Given the description of an element on the screen output the (x, y) to click on. 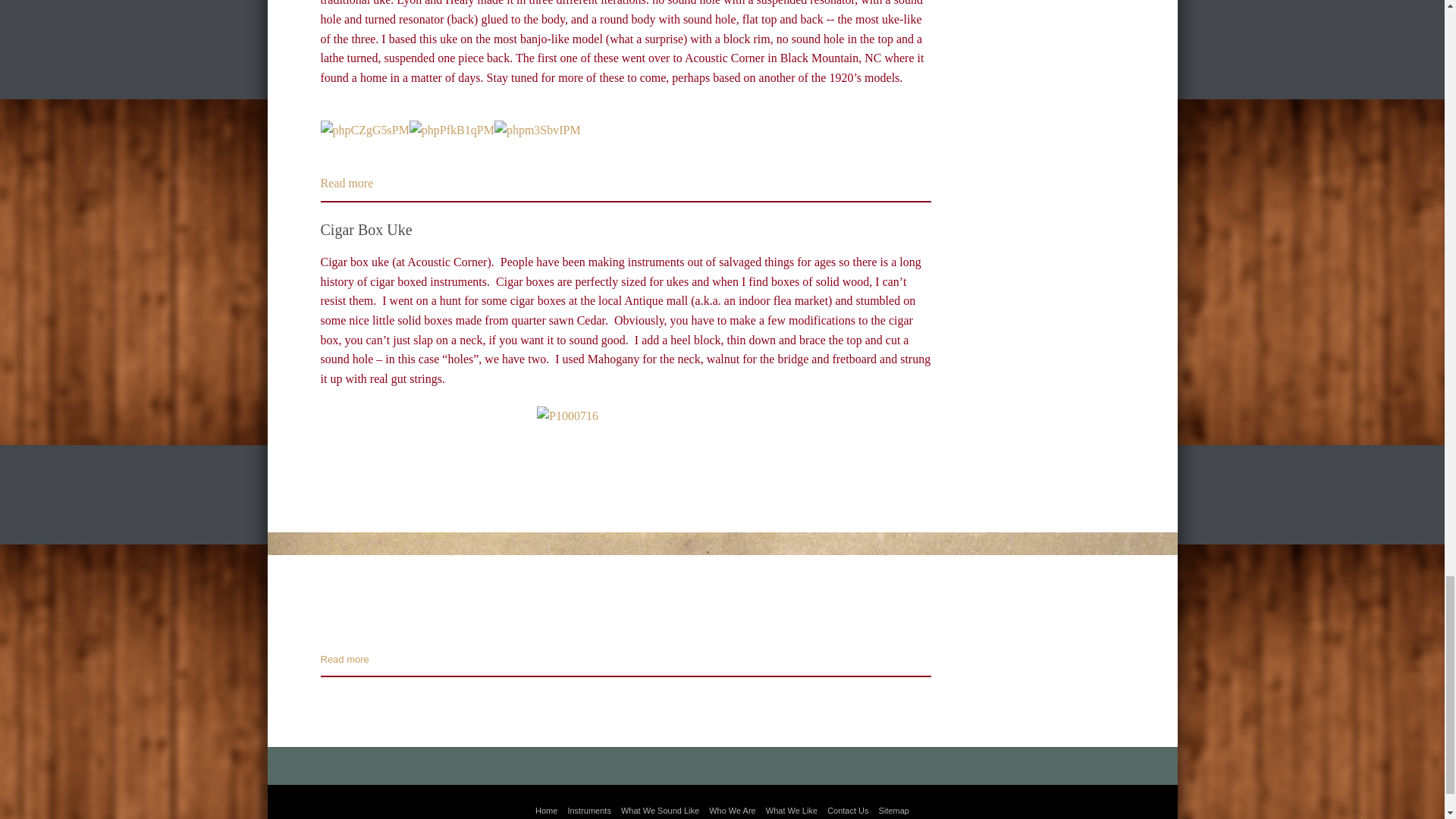
Read more (344, 659)
Home (546, 809)
Instruments (588, 809)
What We Sound Like (659, 809)
Who We Are (732, 809)
Read more (346, 182)
Cigar Box Uke (366, 229)
